Given the description of an element on the screen output the (x, y) to click on. 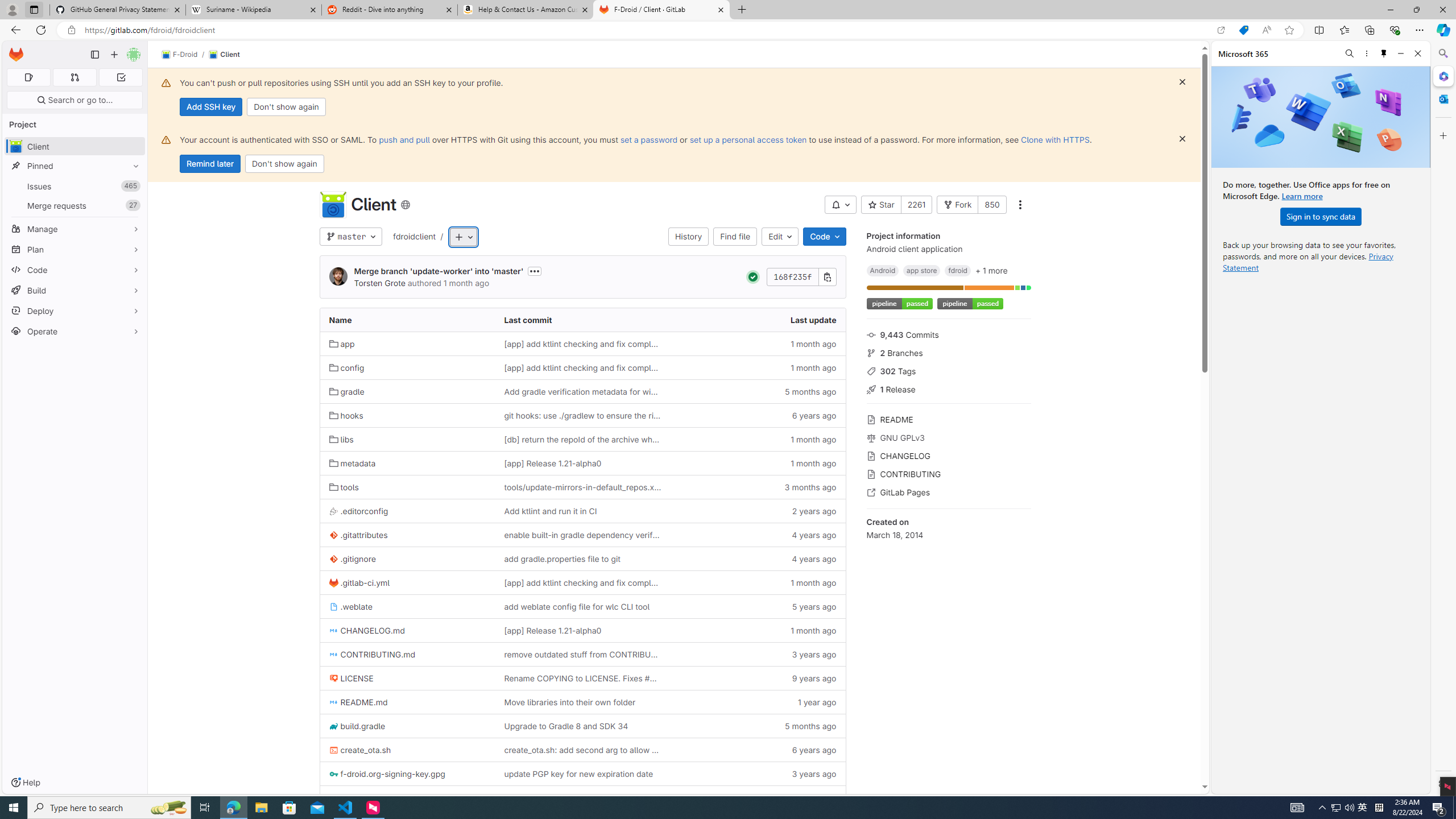
.weblate (407, 606)
Don't show again (284, 163)
2 Branches (948, 351)
1 Release (948, 388)
Privacy Statement (1308, 261)
2261 (916, 204)
Issues465 (74, 185)
Client (224, 54)
Upgrade to Gradle 8 and SDK 34 (565, 725)
[app] Release 1.21-alpha0 (552, 630)
avatar Client (74, 145)
Toggle commit description (534, 271)
Create new... (113, 54)
metadata (352, 463)
